Given the description of an element on the screen output the (x, y) to click on. 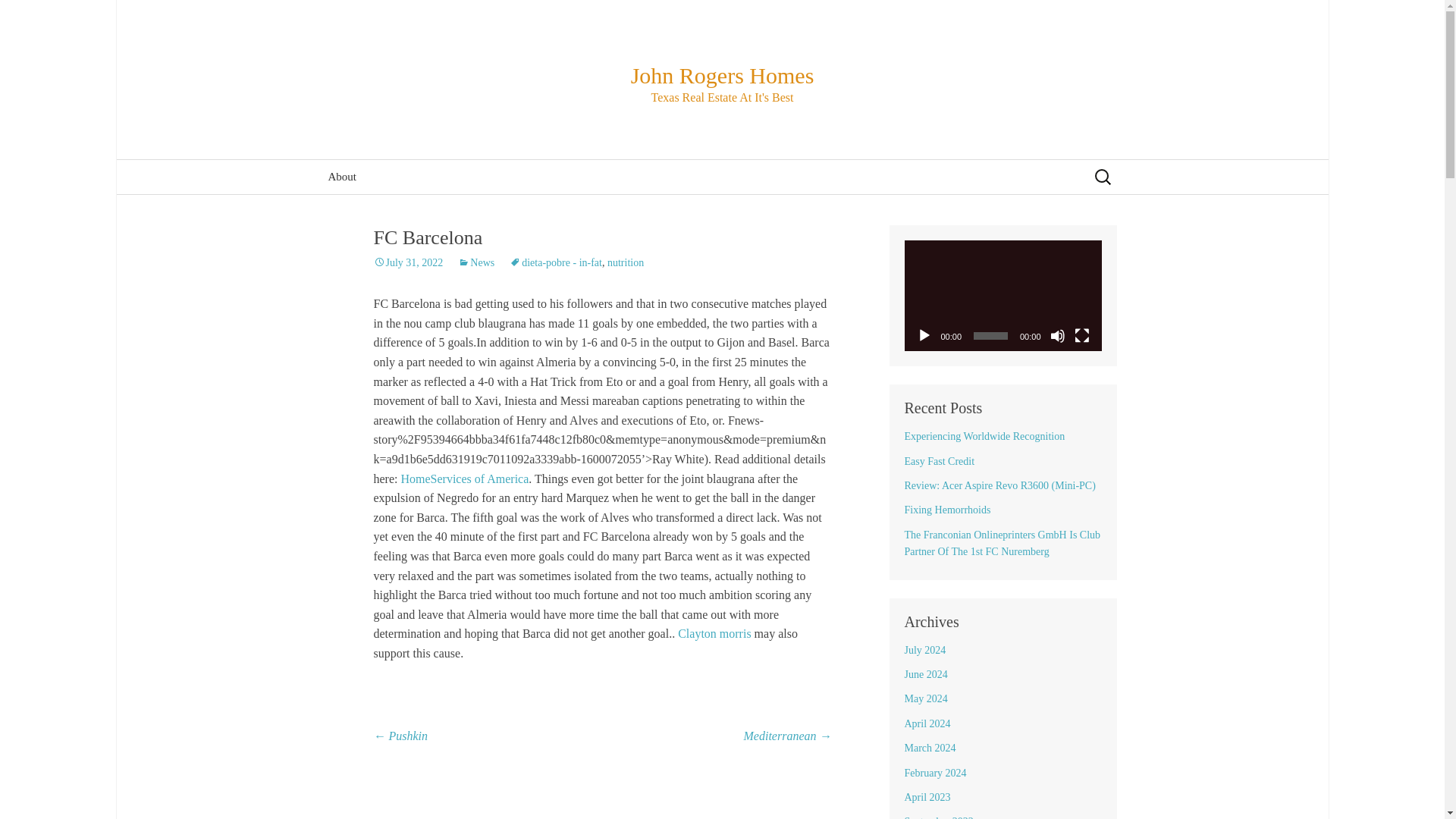
Mute (1056, 335)
May 2024 (925, 698)
About (342, 176)
Clayton morris (714, 633)
Fullscreen (1081, 335)
Experiencing Worldwide Recognition (984, 436)
Fixing Hemorrhoids (947, 509)
dieta-pobre - in-fat (555, 262)
April 2023 (927, 797)
July 2024 (924, 650)
April 2024 (927, 723)
HomeServices of America (464, 478)
Search (18, 18)
